Given the description of an element on the screen output the (x, y) to click on. 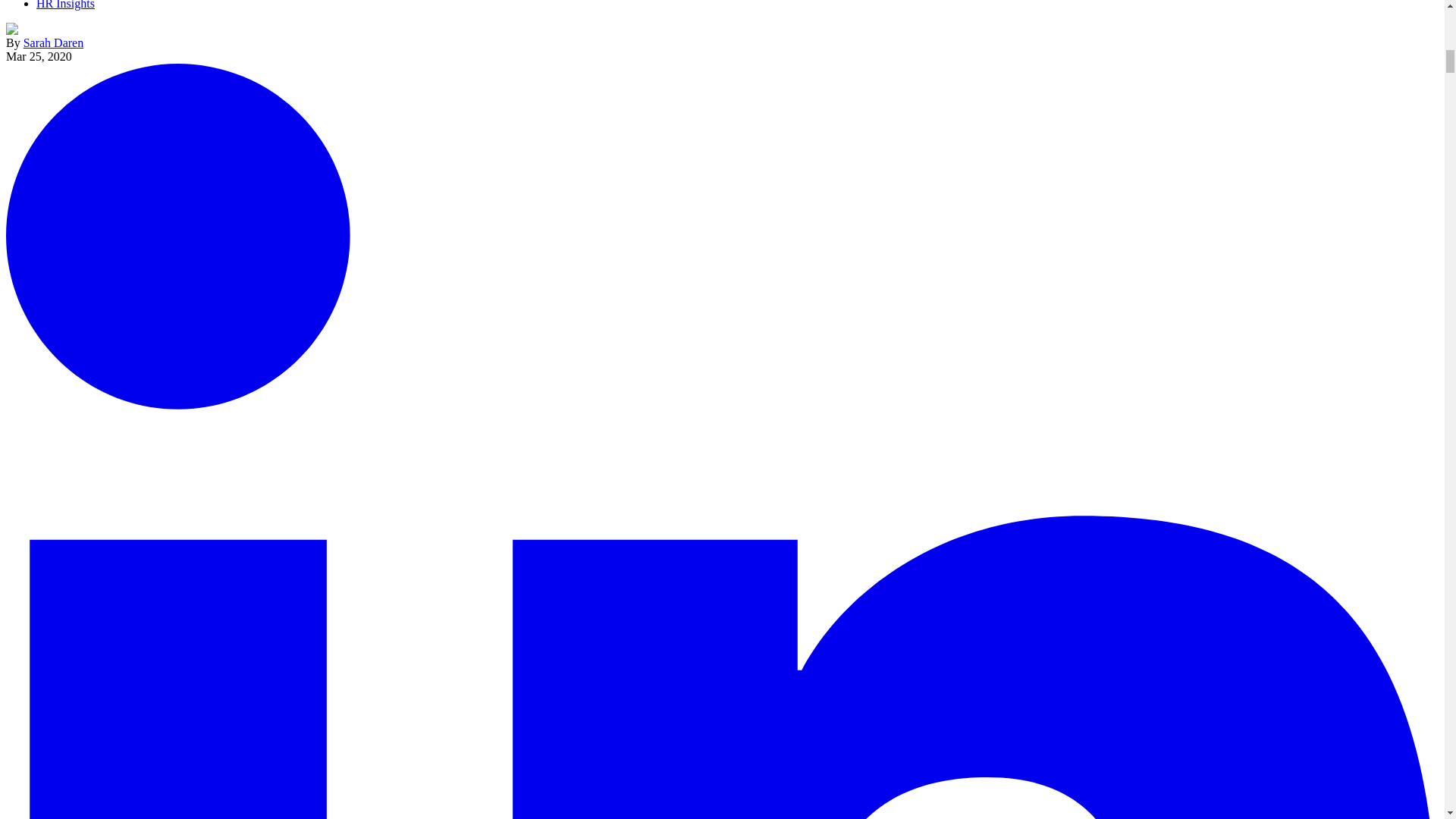
Sarah Daren (53, 42)
HR Insights (65, 4)
